Given the description of an element on the screen output the (x, y) to click on. 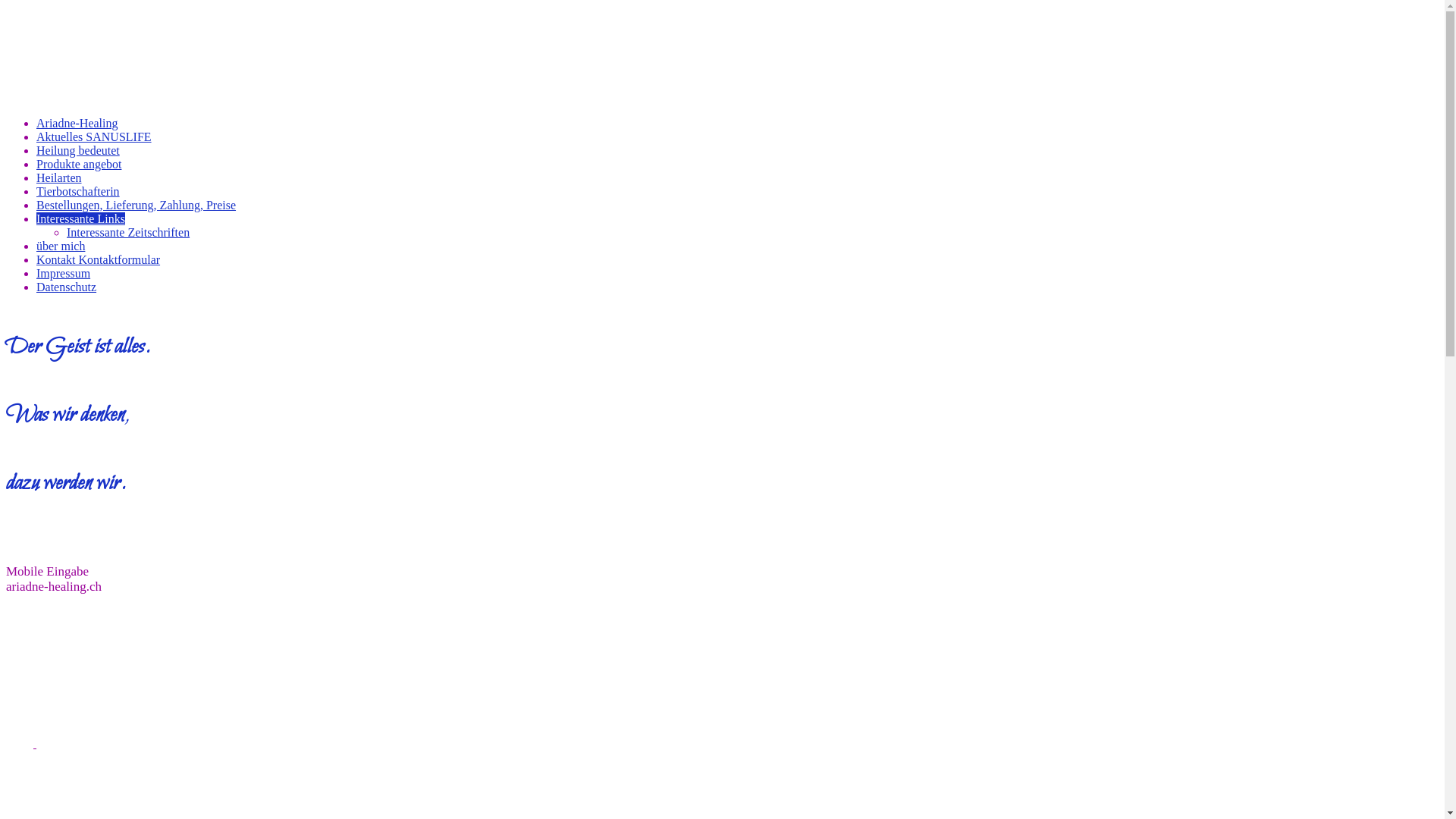
Interessante Zeitschriften Element type: text (127, 231)
Datenschutz Element type: text (66, 286)
Heilarten Element type: text (58, 177)
Aktuelles SANUSLIFE Element type: text (93, 136)
Bestellungen, Lieferung, Zahlung, Preise Element type: text (135, 204)
  Element type: text (34, 743)
Ariadne-Healing Element type: text (77, 122)
Heilung bedeutet Element type: text (77, 150)
Impressum Element type: text (63, 272)
Tierbotschafterin Element type: text (77, 191)
Produkte angebot Element type: text (78, 163)
Interessante Links Element type: text (80, 218)
Kontakt Kontaktformular Element type: text (98, 259)
